Given the description of an element on the screen output the (x, y) to click on. 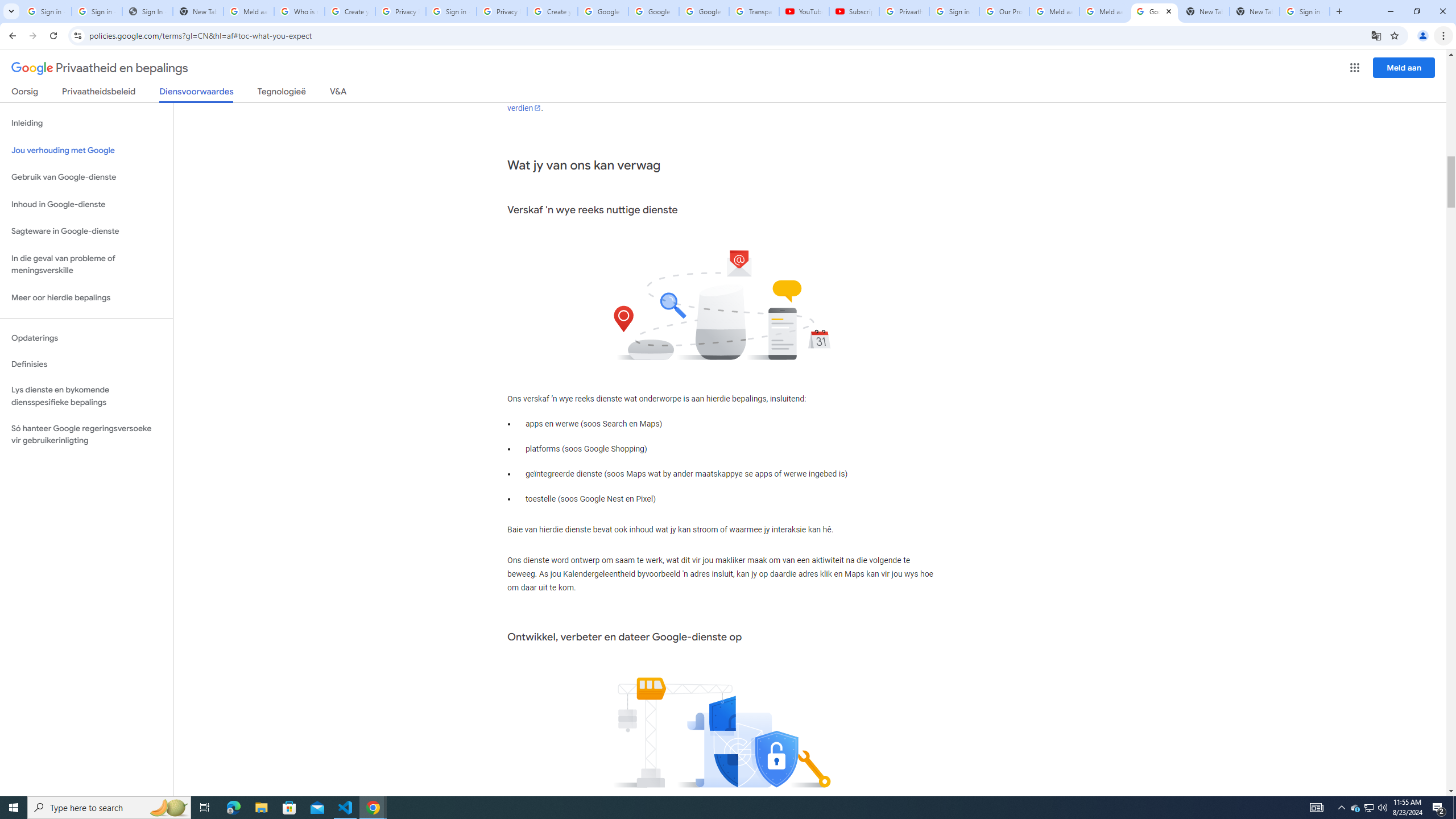
Oorsig (25, 93)
Inhoud in Google-dienste (86, 204)
Sign in - Google Accounts (46, 11)
Sagteware in Google-dienste (86, 230)
Create your Google Account (552, 11)
Who is my administrator? - Google Account Help (299, 11)
Opdaterings (86, 338)
Diensvoorwaardes (196, 94)
